Given the description of an element on the screen output the (x, y) to click on. 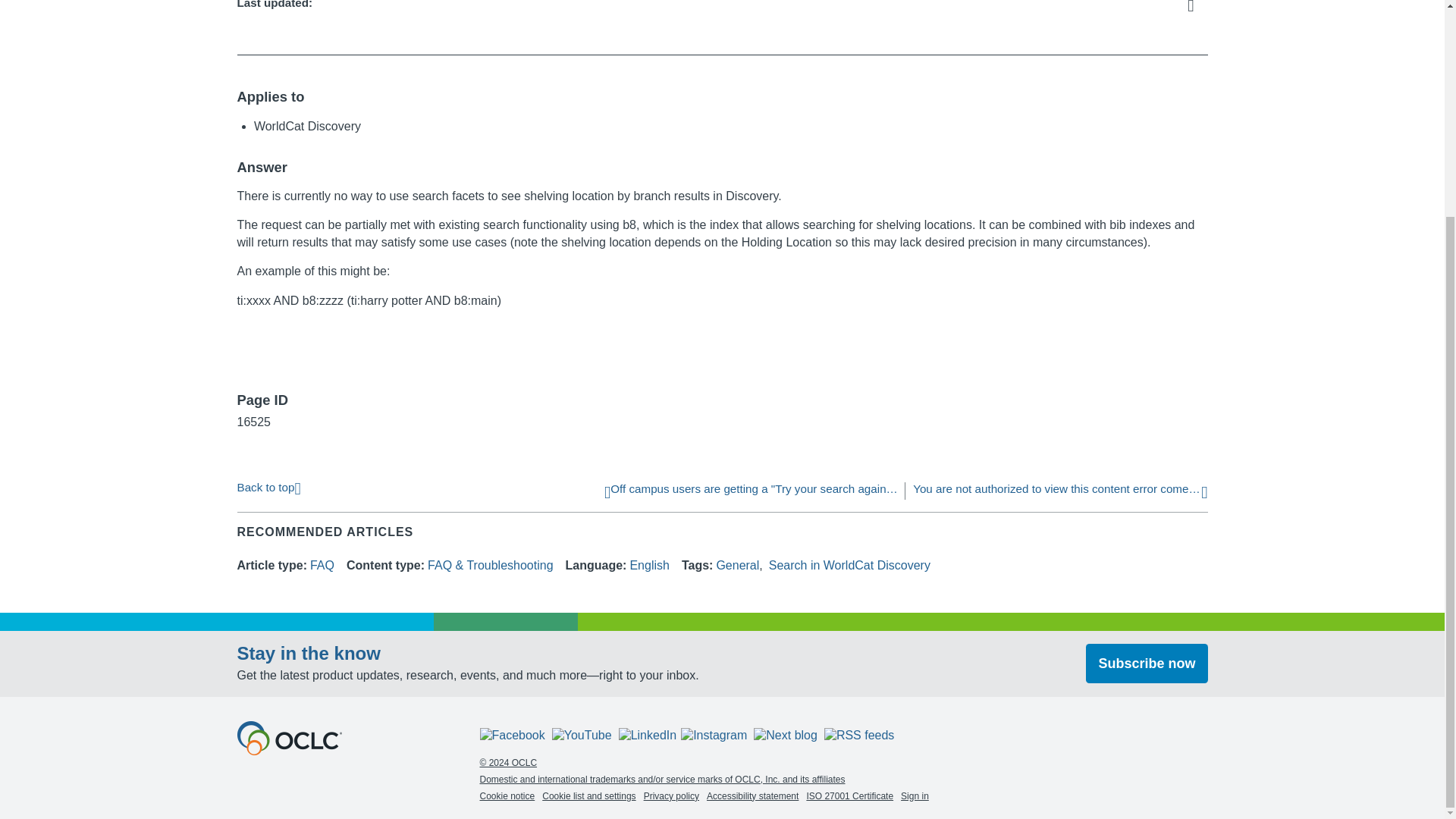
Back to top (267, 486)
FAQ (322, 564)
English (648, 564)
Export page as a PDF (1196, 7)
Jump back to top of this article (267, 486)
Save as PDF (1196, 7)
